Given the description of an element on the screen output the (x, y) to click on. 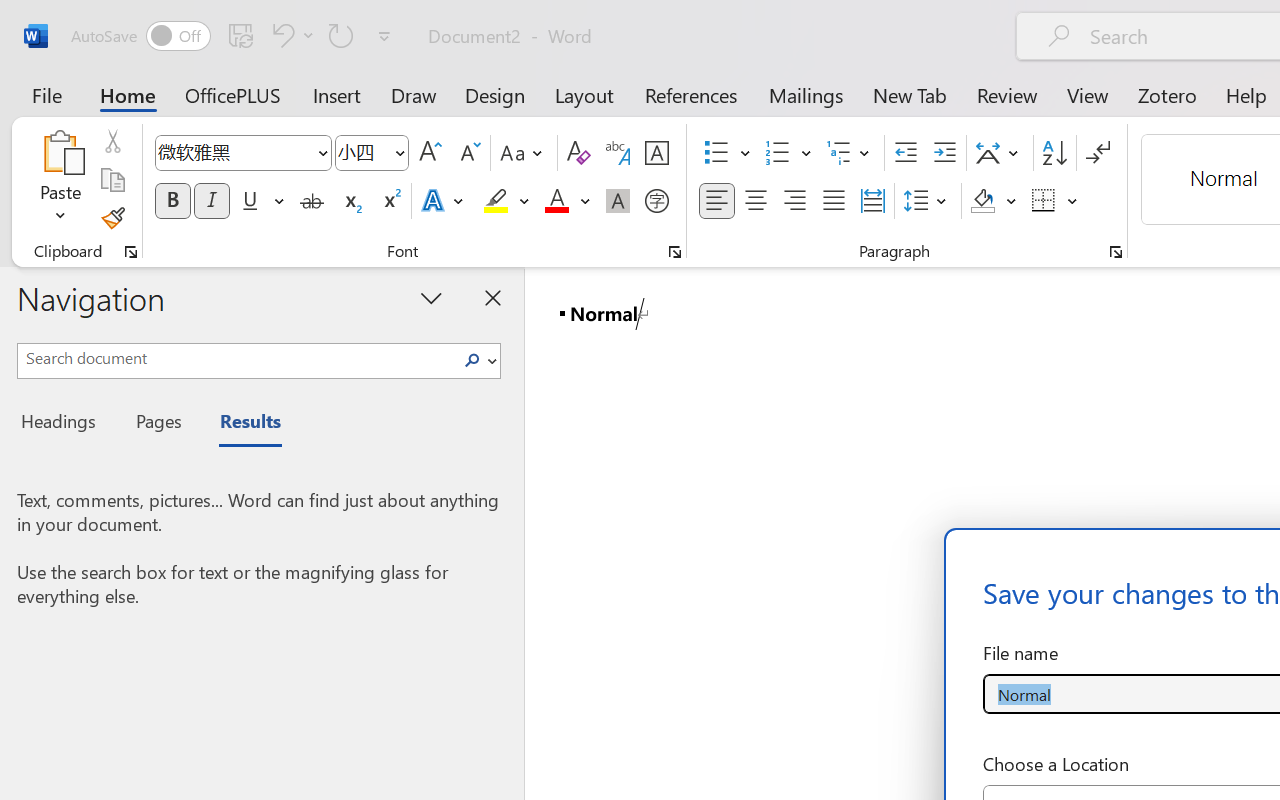
Shrink Font (468, 153)
OfficePLUS (233, 94)
Layout (584, 94)
Undo Style (290, 35)
View (1087, 94)
Bold (172, 201)
File Tab (46, 94)
Font Color Red (556, 201)
Design (495, 94)
Character Shading (618, 201)
Change Case (524, 153)
Format Painter (112, 218)
Multilevel List (850, 153)
Zotero (1166, 94)
